Given the description of an element on the screen output the (x, y) to click on. 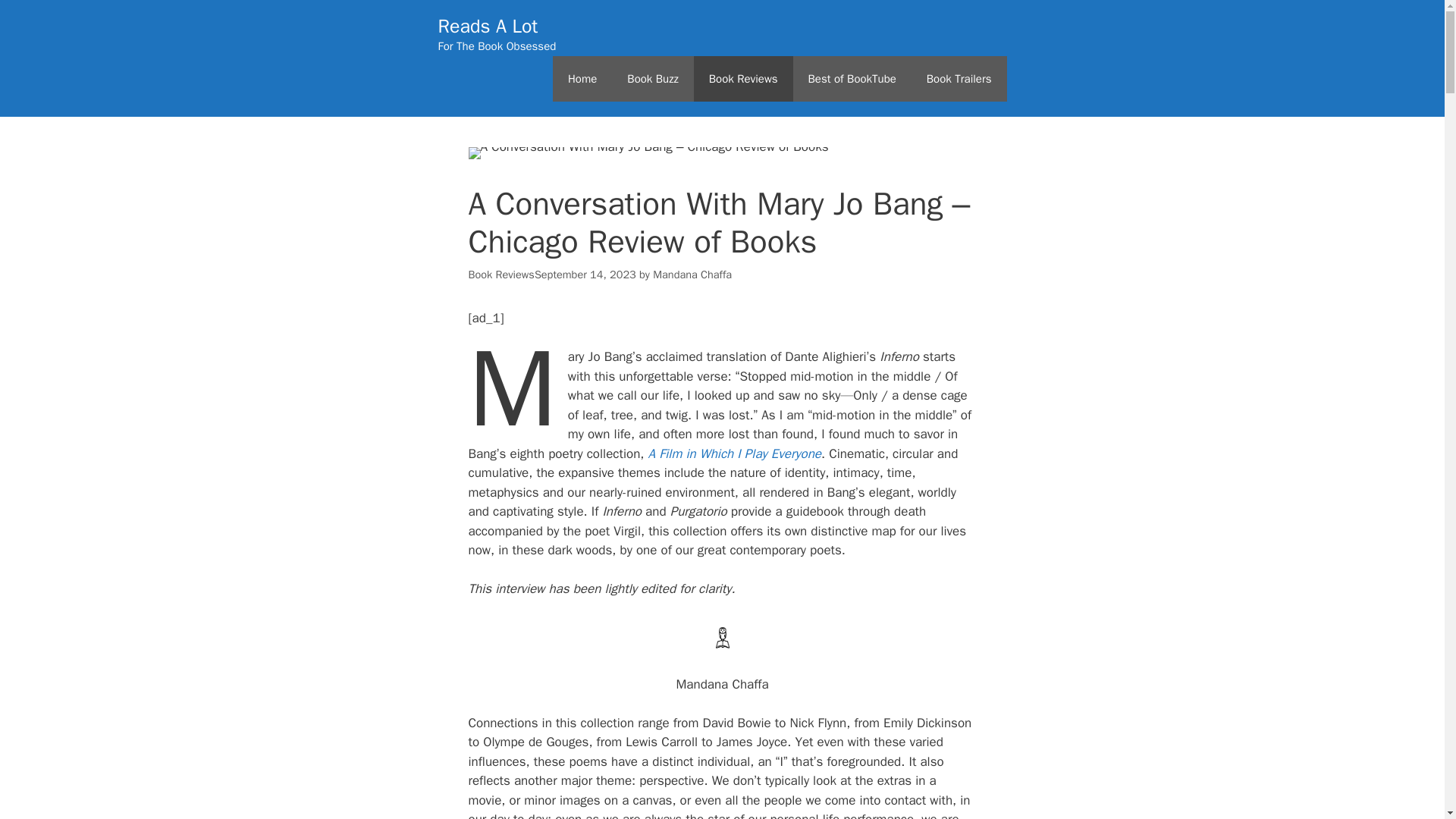
Best of BookTube (852, 78)
View all posts by Mandana Chaffa (692, 273)
Book Buzz (652, 78)
Book Reviews (743, 78)
Reads A Lot (488, 25)
Book Reviews (501, 273)
Home (582, 78)
A Film in Which I Play Everyone (734, 453)
Book Trailers (959, 78)
Mandana Chaffa (692, 273)
